Given the description of an element on the screen output the (x, y) to click on. 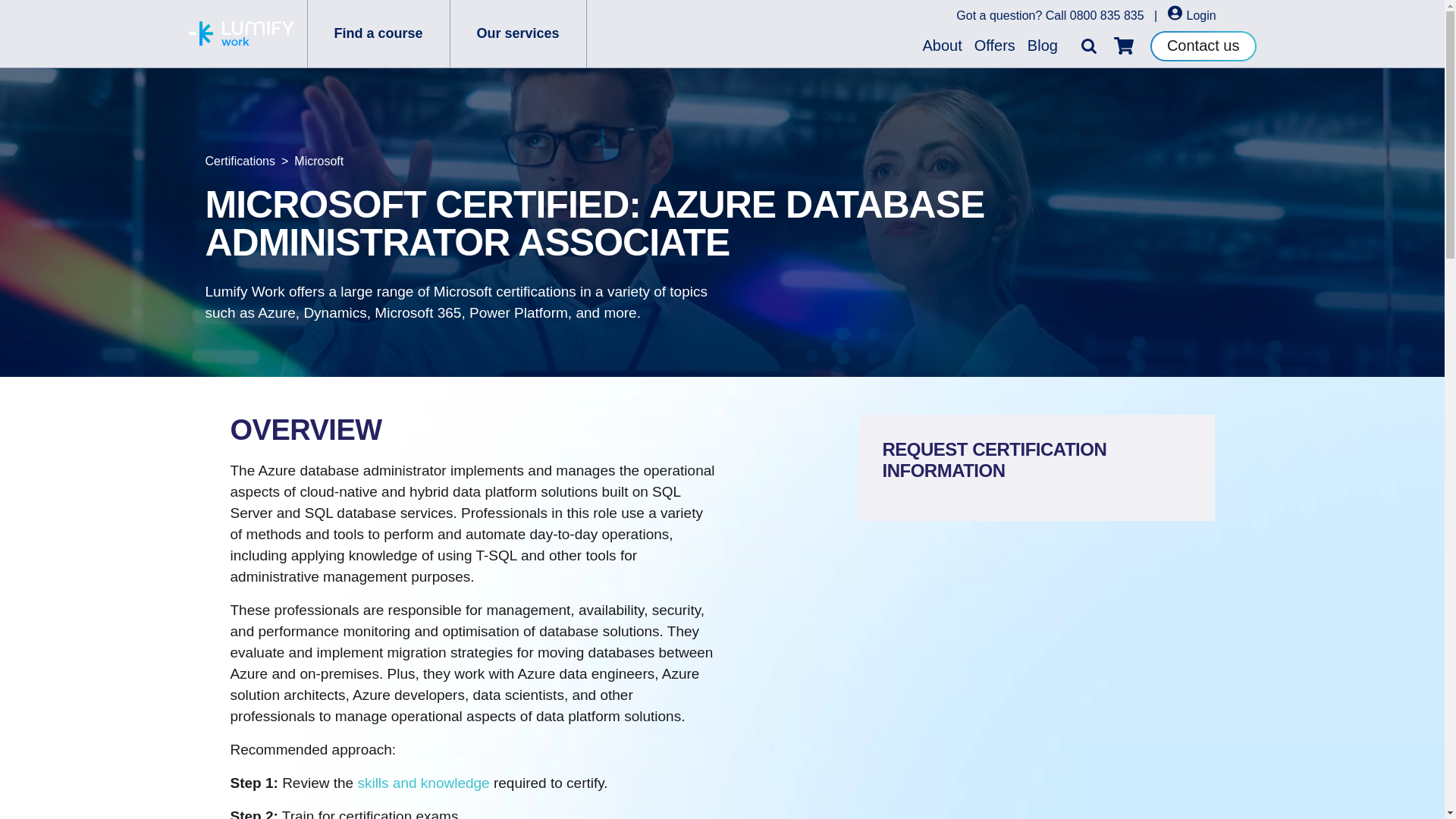
Certifications (240, 160)
Login (1191, 15)
Microsoft (318, 160)
skills and knowledge (422, 782)
Find a course (378, 33)
Checkout (1123, 46)
About (941, 45)
Blog (1043, 45)
Contact us (1203, 45)
homepage (240, 33)
Offers (995, 45)
0800 835 835 (1107, 15)
Our services (517, 33)
